Given the description of an element on the screen output the (x, y) to click on. 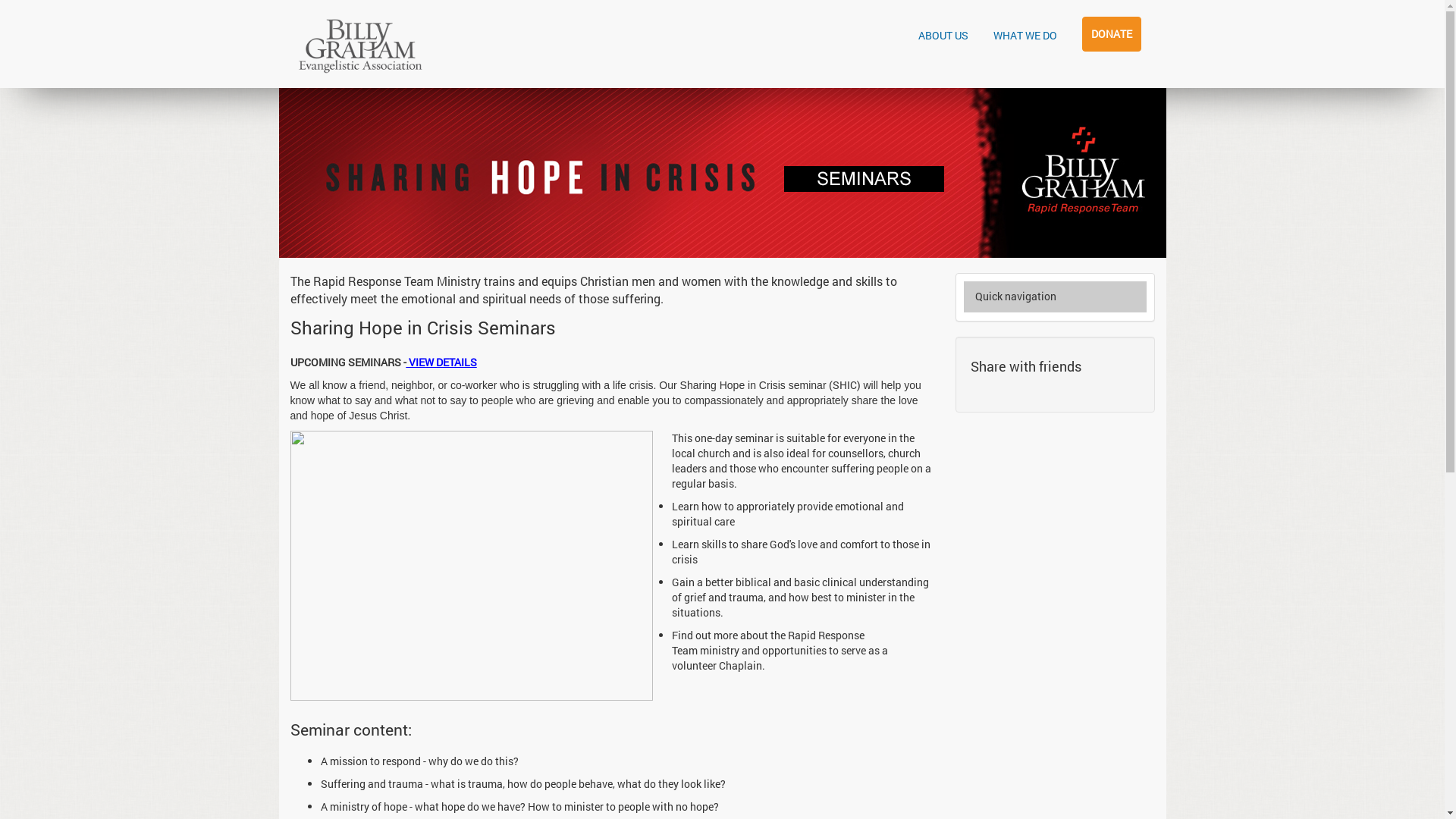
ABOUT US Element type: text (942, 35)
VIEW DETAILS Element type: text (441, 361)
WHAT WE DO Element type: text (1024, 35)
DONATE Element type: text (1110, 33)
